Given the description of an element on the screen output the (x, y) to click on. 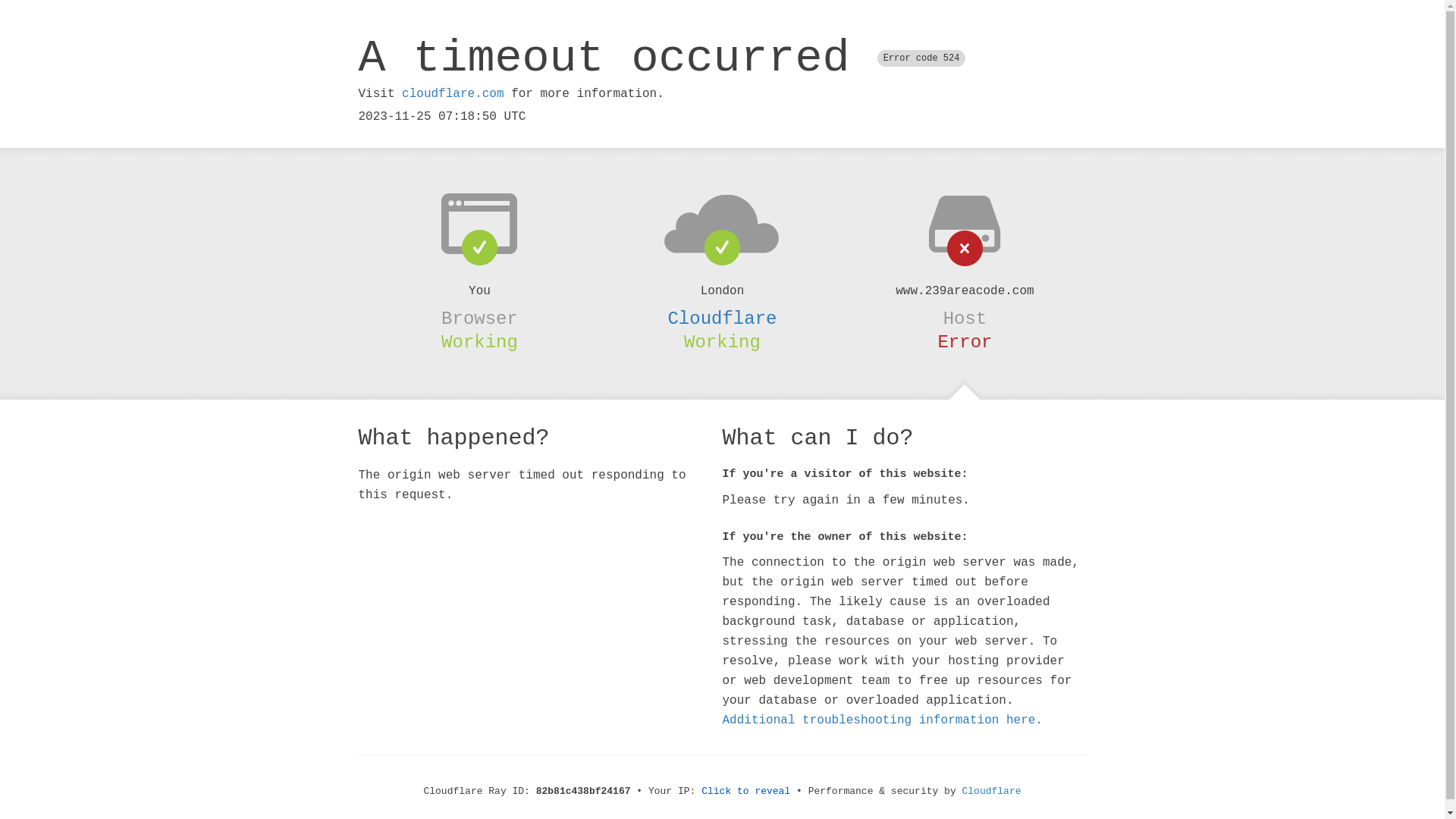
Additional troubleshooting information here. Element type: text (881, 720)
cloudflare.com Element type: text (452, 93)
Cloudflare Element type: text (721, 318)
Click to reveal Element type: text (745, 791)
Cloudflare Element type: text (991, 791)
